Given the description of an element on the screen output the (x, y) to click on. 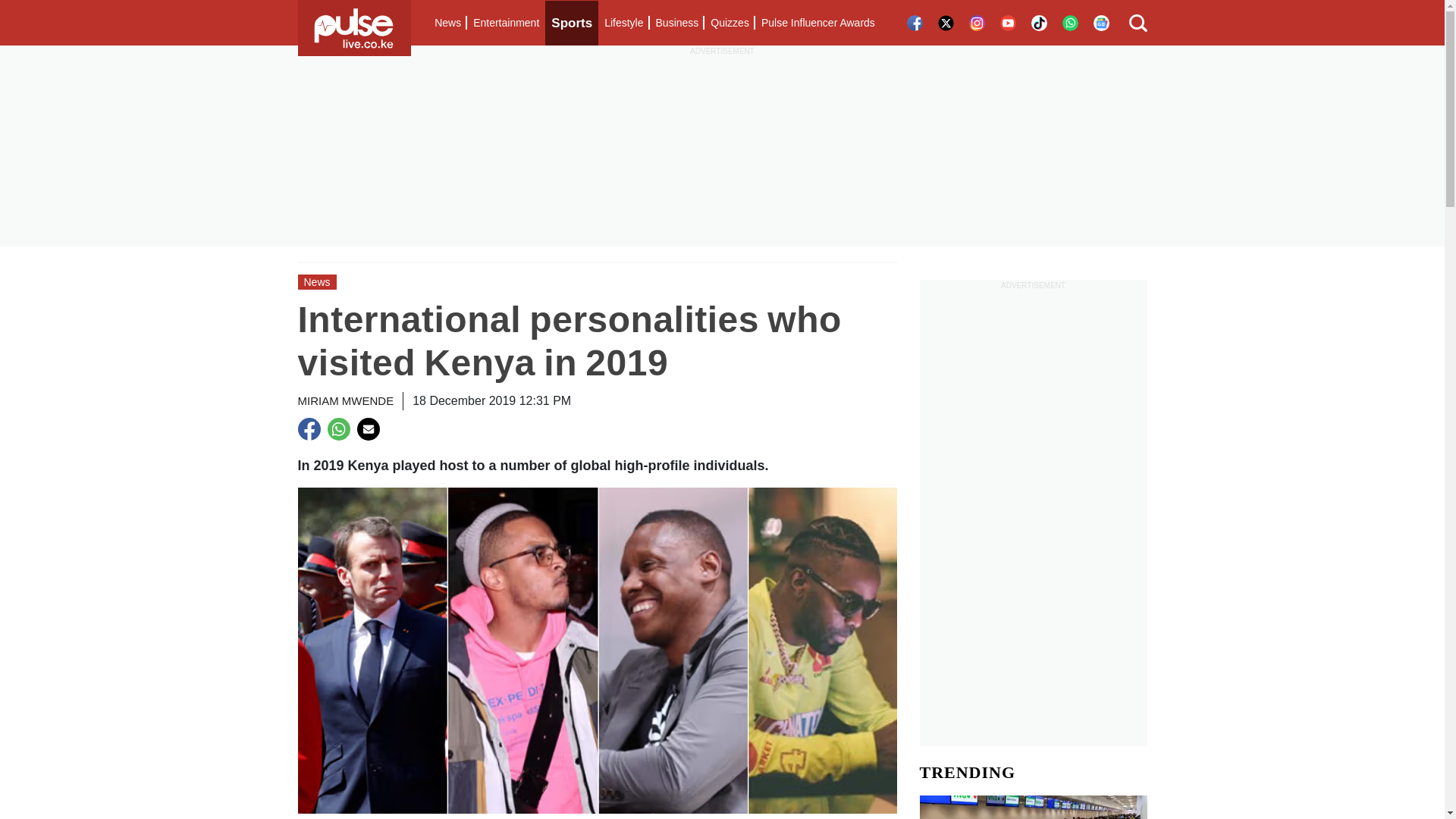
Pulse Influencer Awards (817, 22)
Entertainment (505, 22)
News (447, 22)
Lifestyle (623, 22)
Business (676, 22)
Sports (571, 22)
Quizzes (729, 22)
